Given the description of an element on the screen output the (x, y) to click on. 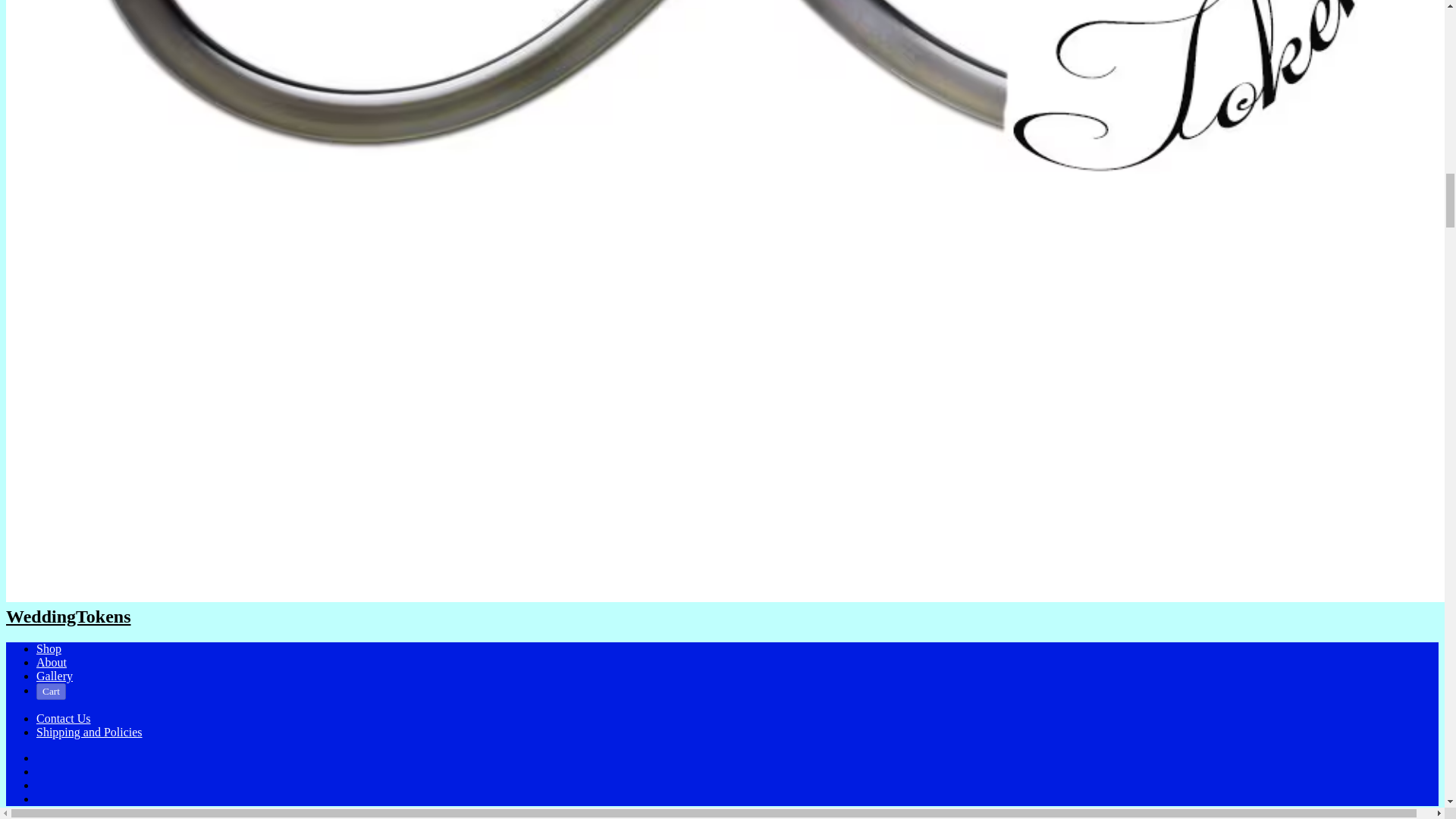
Shop (48, 648)
Contact Us (63, 717)
Gallery (54, 675)
About (51, 662)
Shipping and Policies (89, 731)
Cart (50, 691)
